Given the description of an element on the screen output the (x, y) to click on. 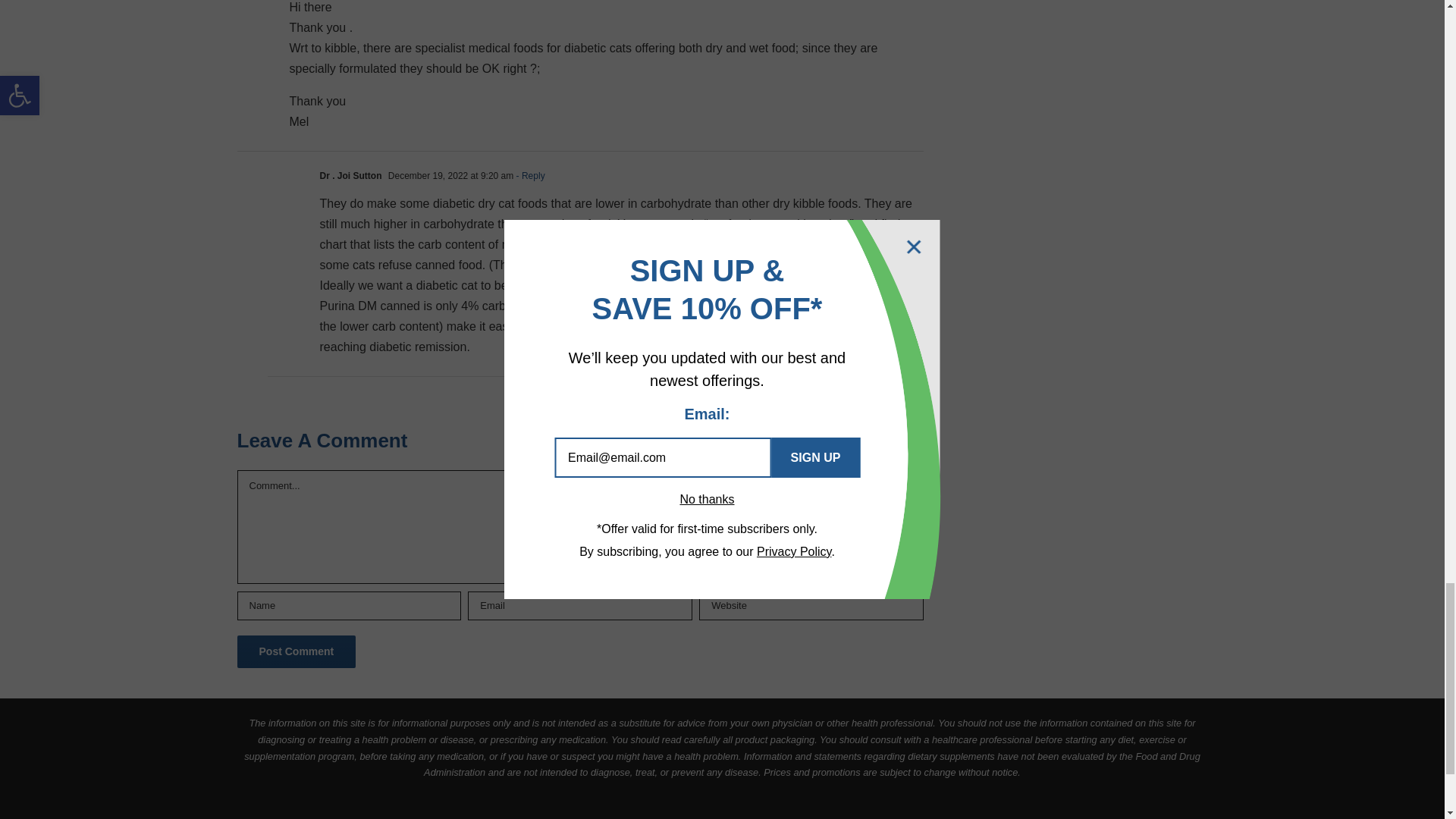
Post Comment (295, 651)
